Given the description of an element on the screen output the (x, y) to click on. 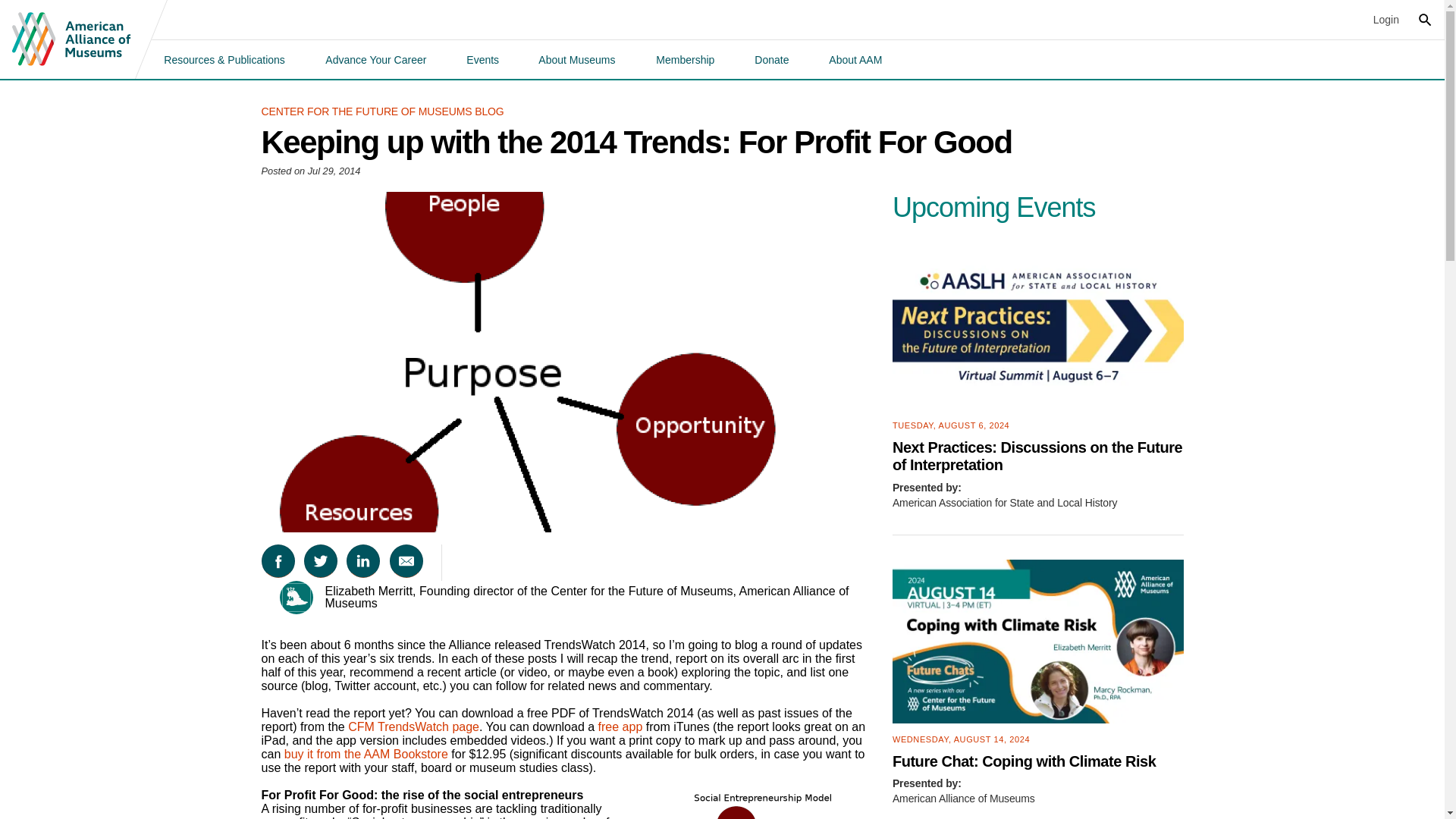
AAM Homepage (71, 39)
Facebook (277, 561)
Twitter (320, 561)
Advance Your Career (374, 59)
Events (481, 59)
LinkedIn (363, 561)
About Museums (576, 59)
Email (406, 561)
